Given the description of an element on the screen output the (x, y) to click on. 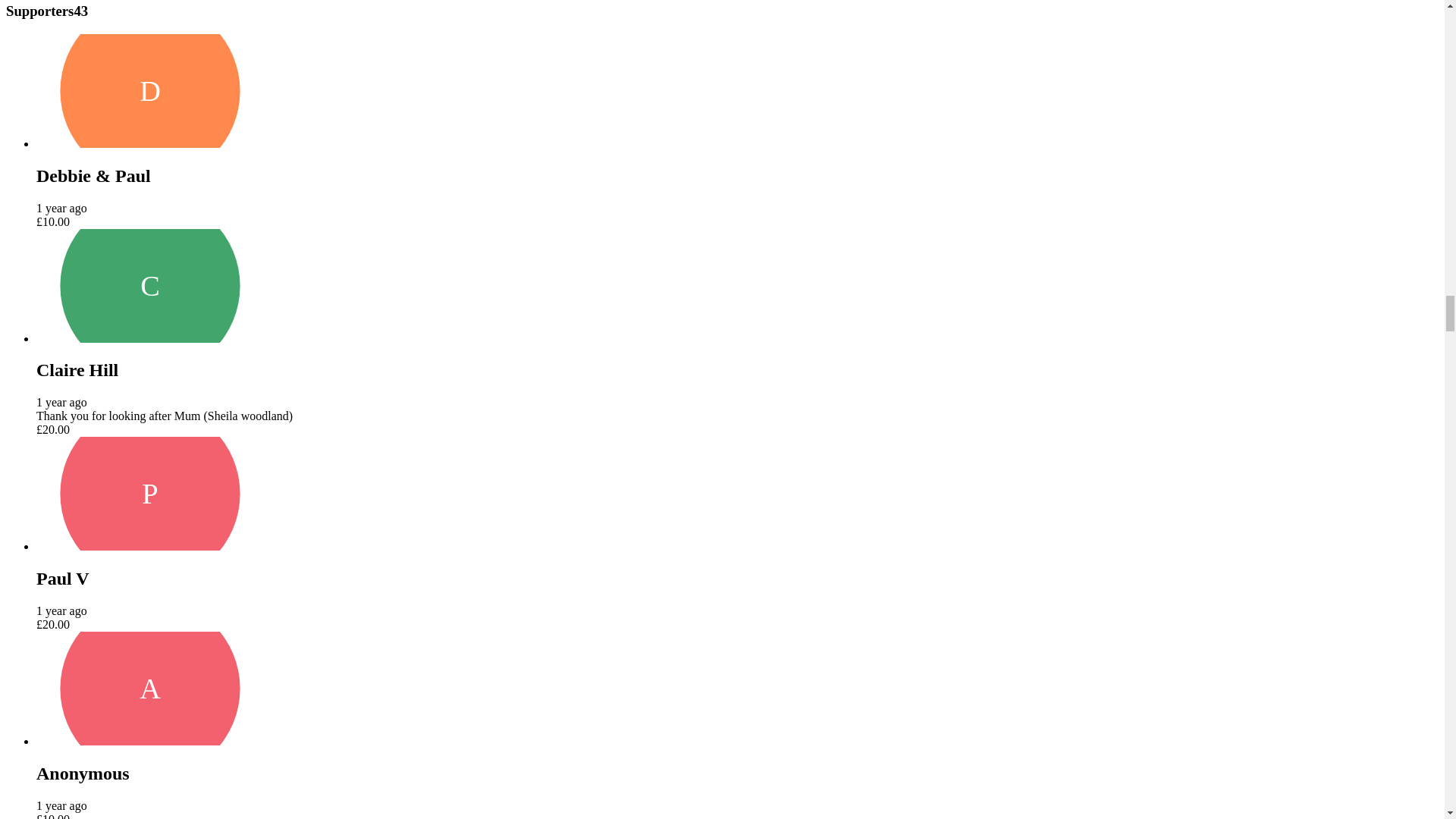
D (149, 91)
C (149, 286)
P (149, 493)
A (149, 688)
